Given the description of an element on the screen output the (x, y) to click on. 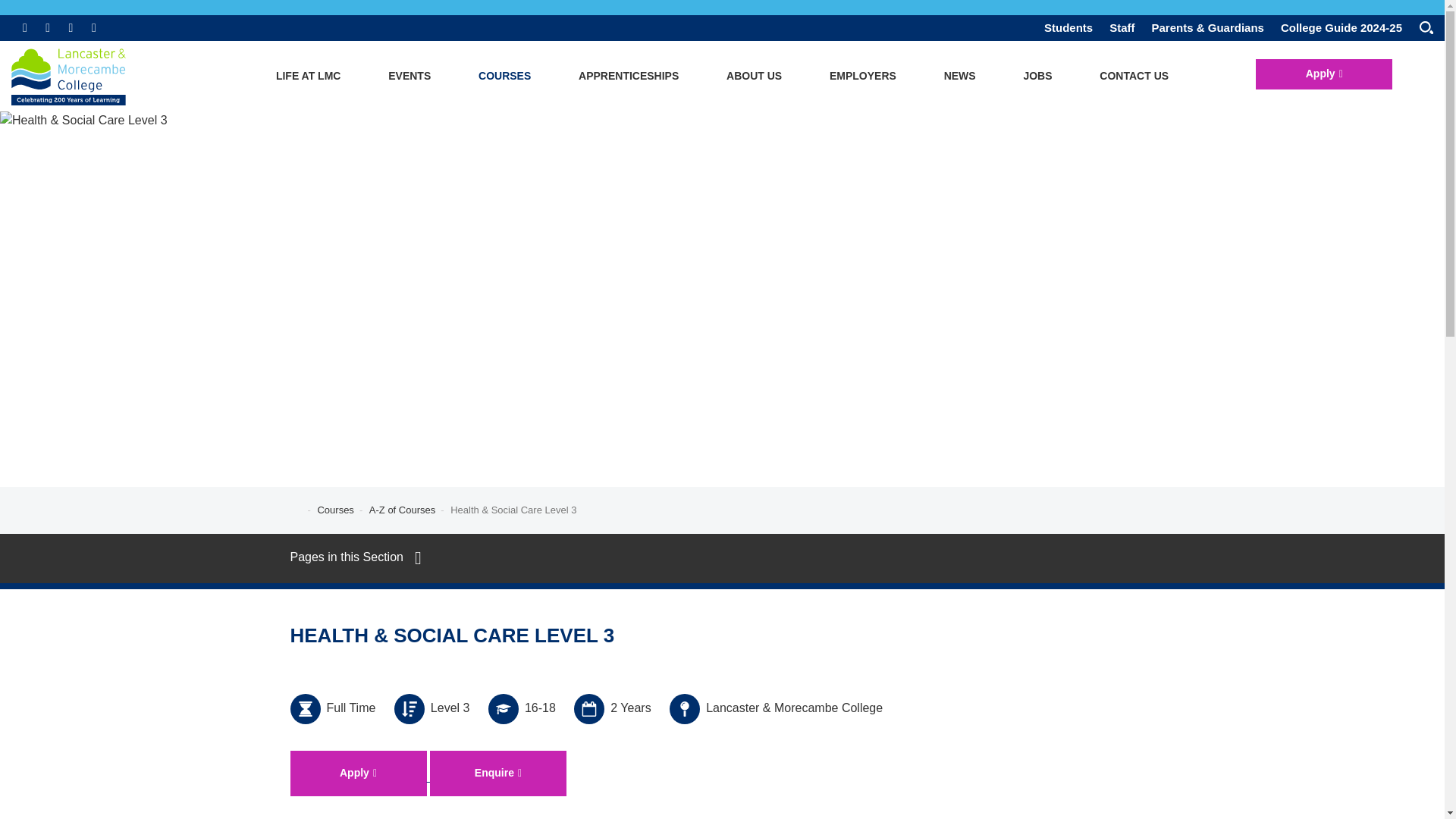
EVENTS (409, 75)
LIFE AT LMC (307, 75)
Students (1068, 27)
LMC Home (79, 79)
College Guide 2024-25 (1341, 27)
COURSES (504, 75)
Staff (1121, 27)
